Given the description of an element on the screen output the (x, y) to click on. 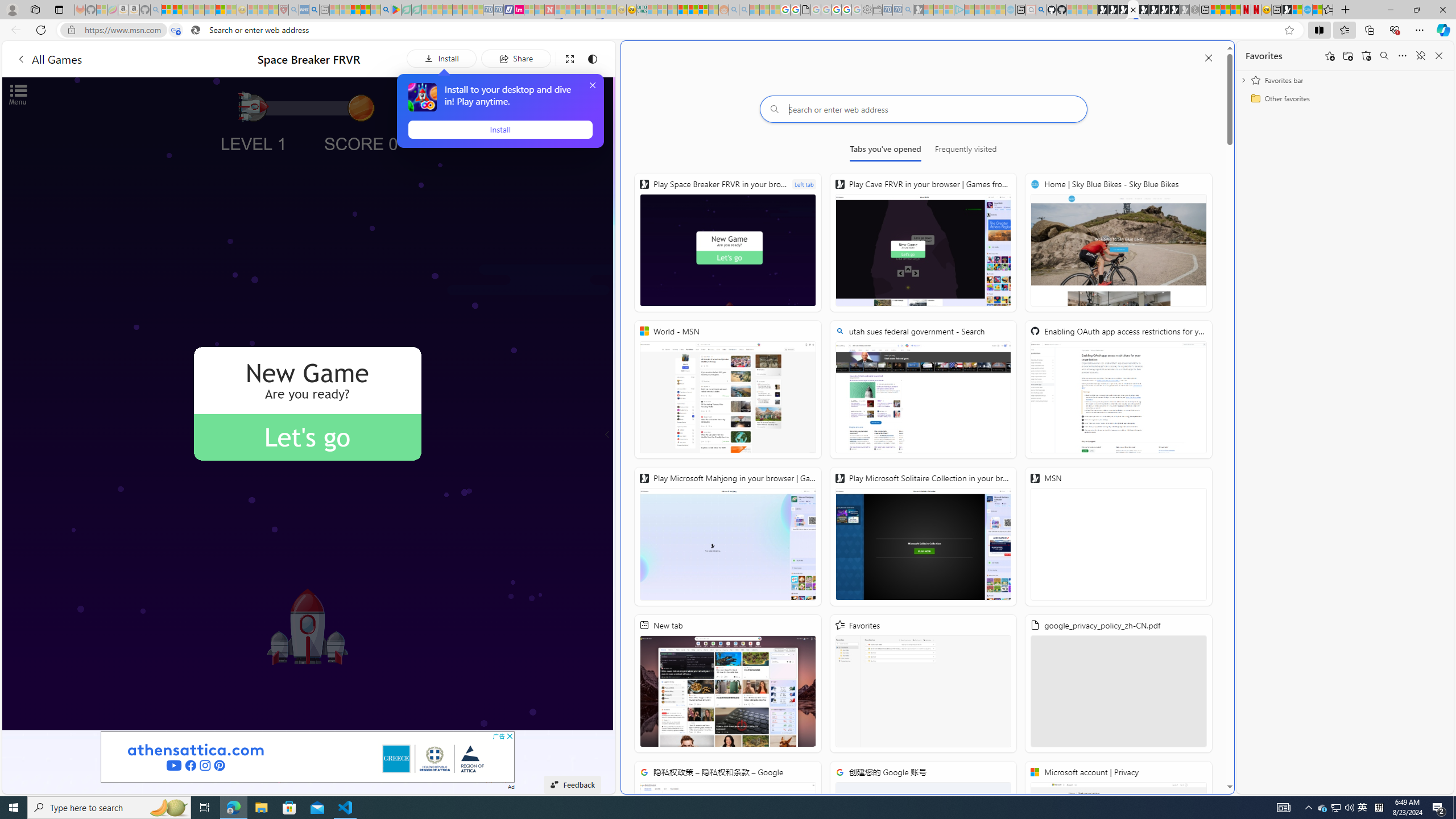
Tabs you've opened (885, 151)
New split screen (1132, 9)
14 Common Myths Debunked By Scientific Facts - Sleeping (569, 9)
Home | Sky Blue Bikes - Sky Blue Bikes (1118, 242)
Advertisement (307, 756)
Change to dark mode (592, 58)
